Given the description of an element on the screen output the (x, y) to click on. 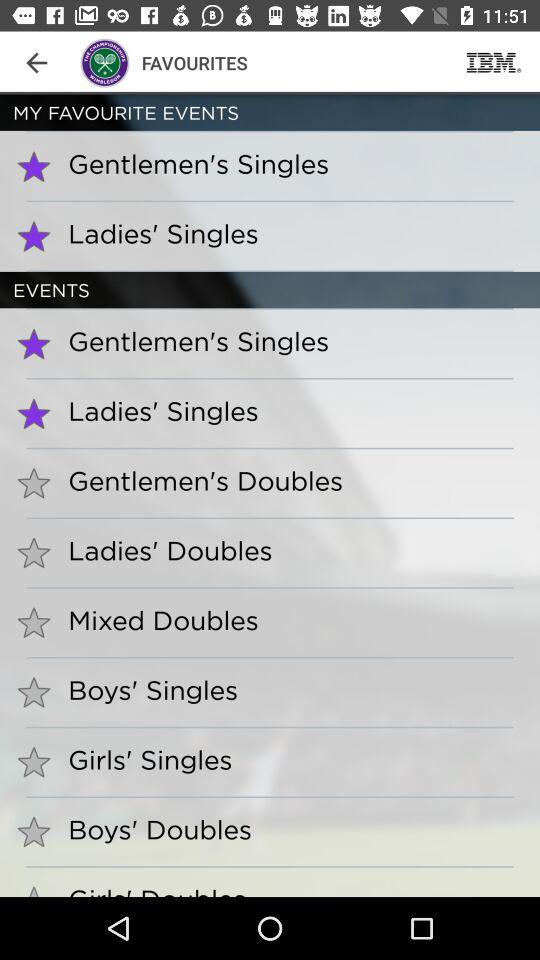
click the item next to the favourites (494, 62)
